Given the description of an element on the screen output the (x, y) to click on. 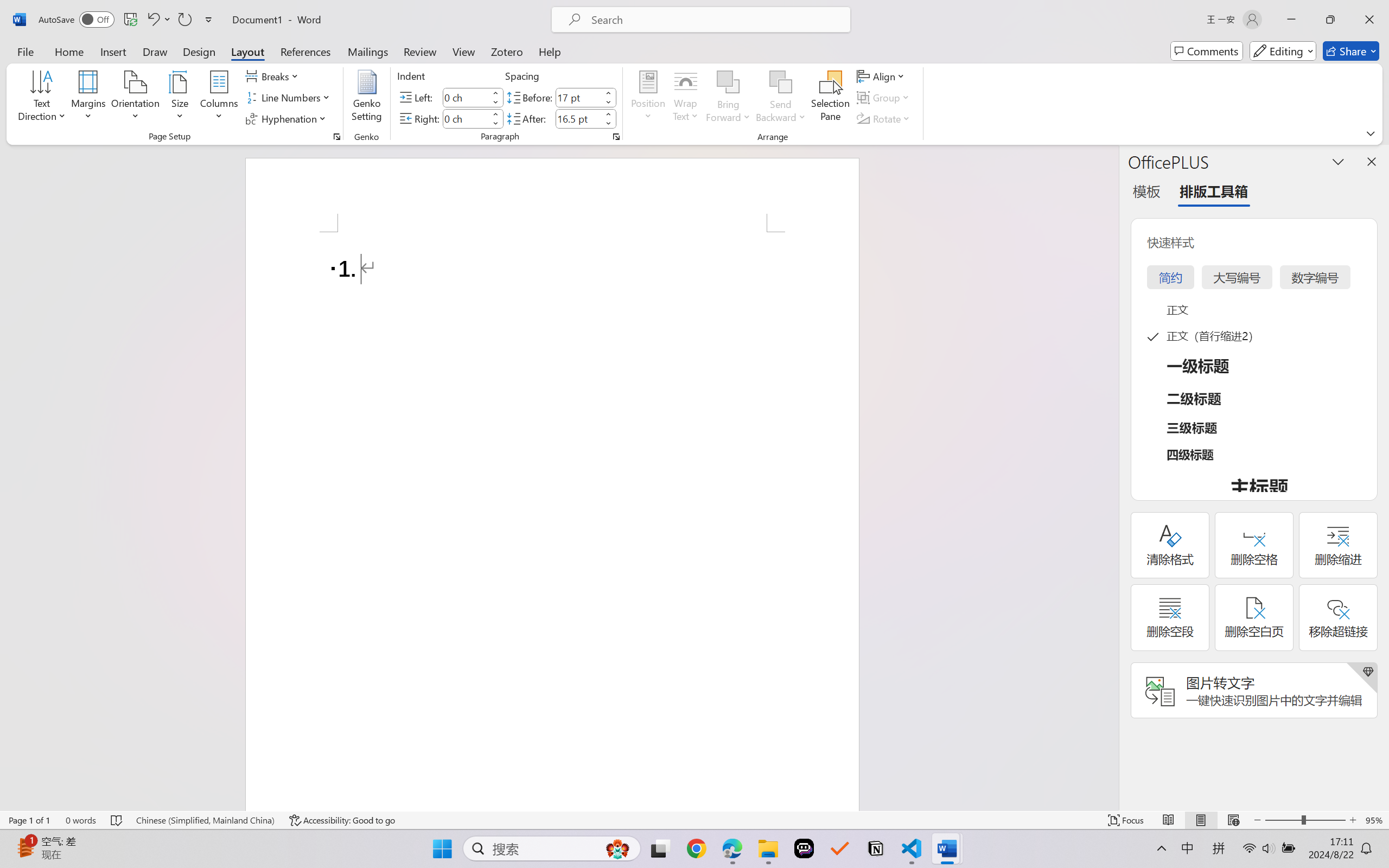
Breaks (273, 75)
Columns (219, 97)
More (608, 113)
